Given the description of an element on the screen output the (x, y) to click on. 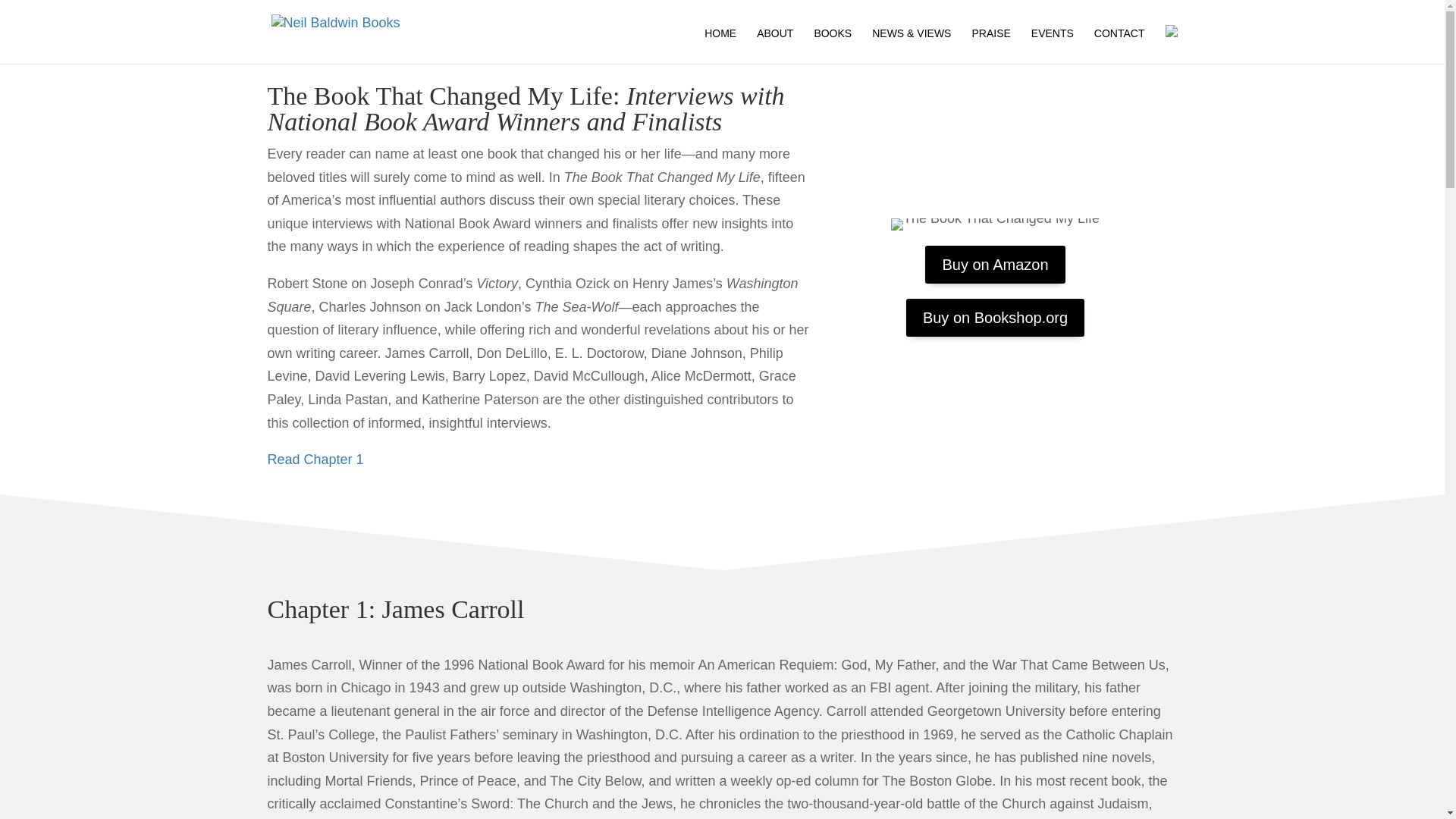
BOOKS (832, 45)
Buy on Bookshop.org (994, 317)
HOME (720, 45)
ABOUT (775, 45)
Read Chapter 1 (314, 459)
PRAISE (990, 45)
CONTACT (1119, 45)
EVENTS (1052, 45)
The Book That Changed My Life (995, 224)
Buy on Amazon (994, 264)
